Given the description of an element on the screen output the (x, y) to click on. 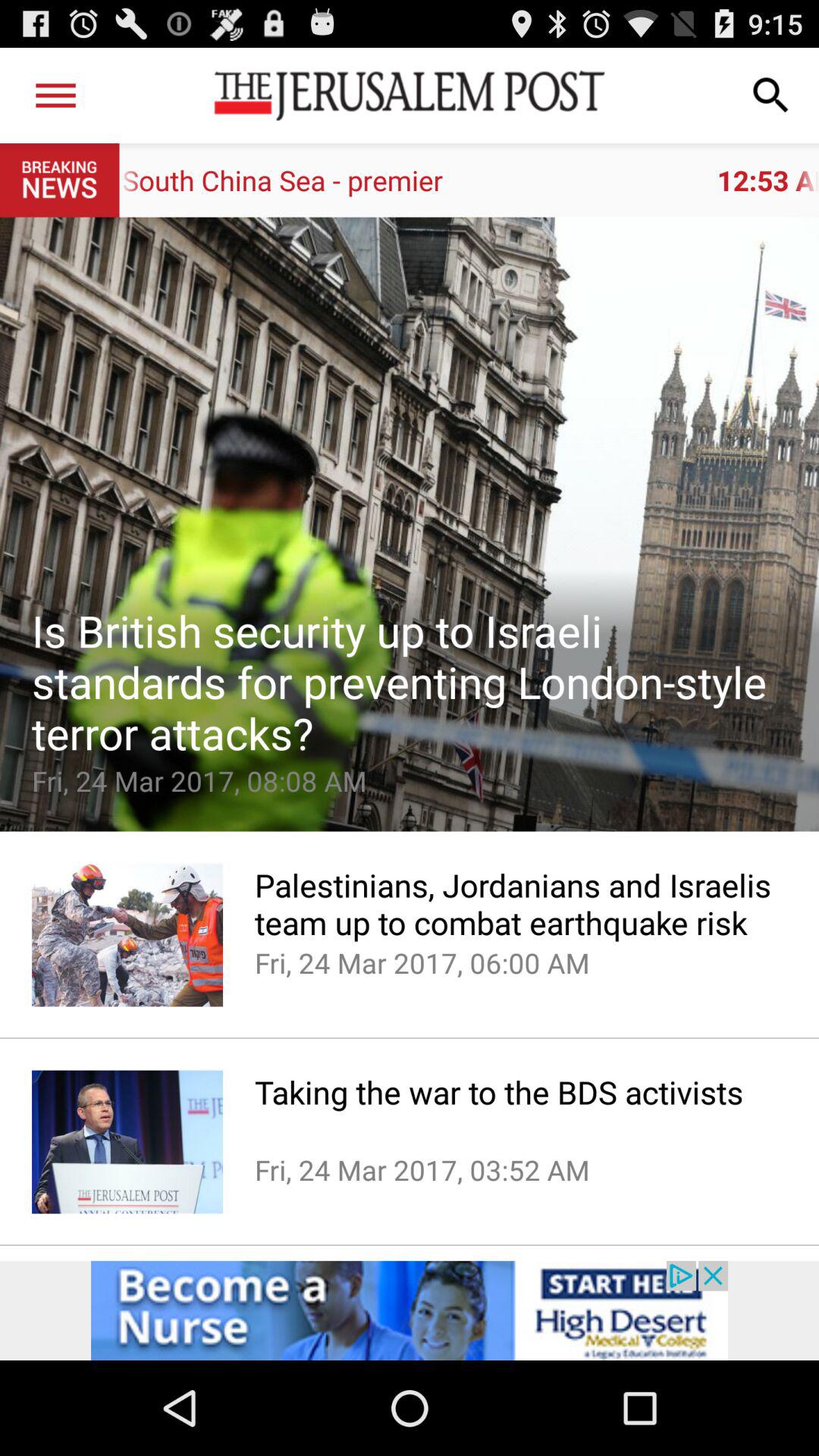
open the icon at the top right corner (771, 95)
